Given the description of an element on the screen output the (x, y) to click on. 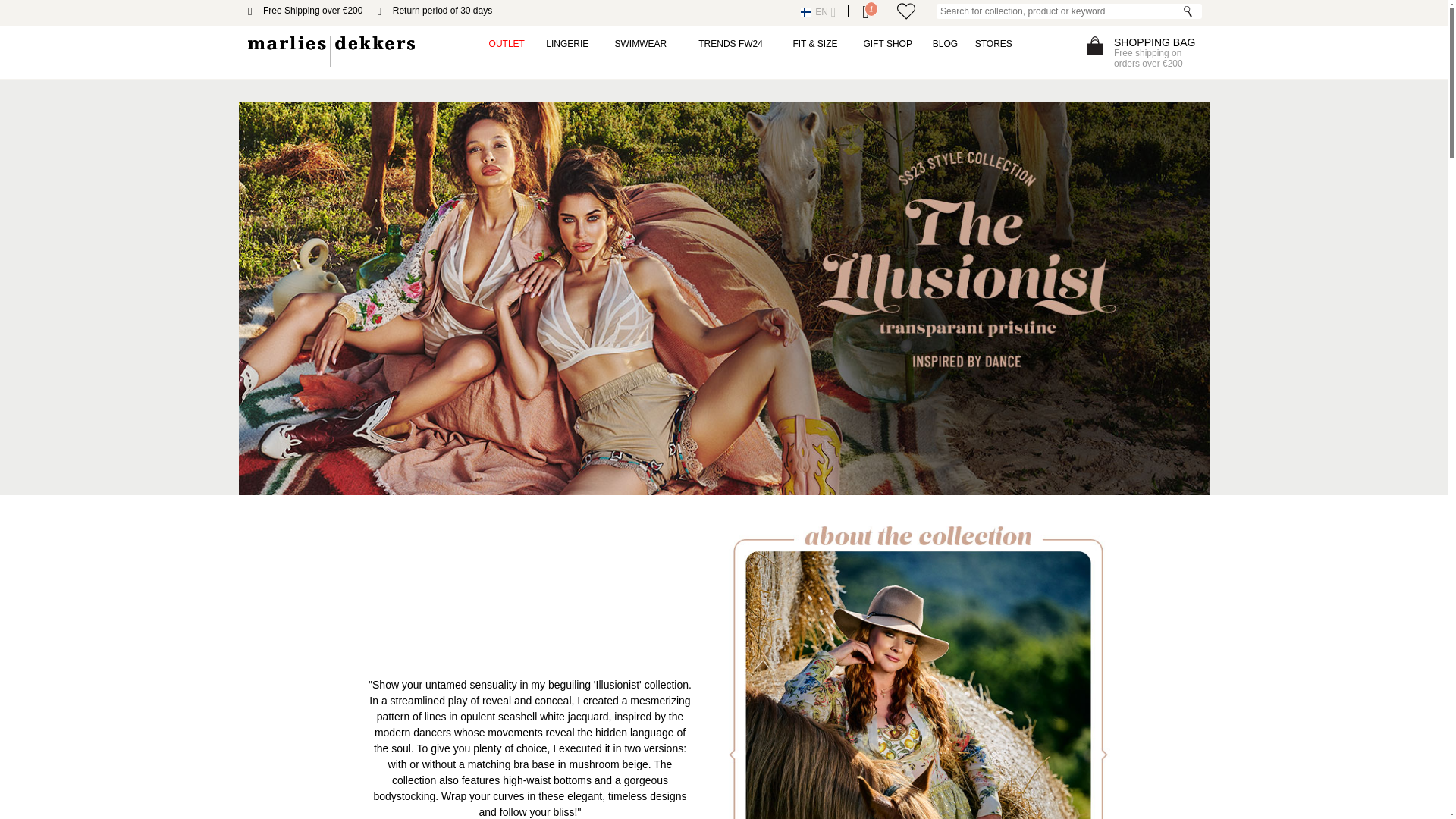
go (1186, 11)
LINGERIE (567, 43)
Marlies Dekkers (330, 51)
Marlies Dekkers (330, 51)
OUTLET (506, 43)
EN (817, 12)
go (1186, 11)
My wishlist (905, 11)
